Given the description of an element on the screen output the (x, y) to click on. 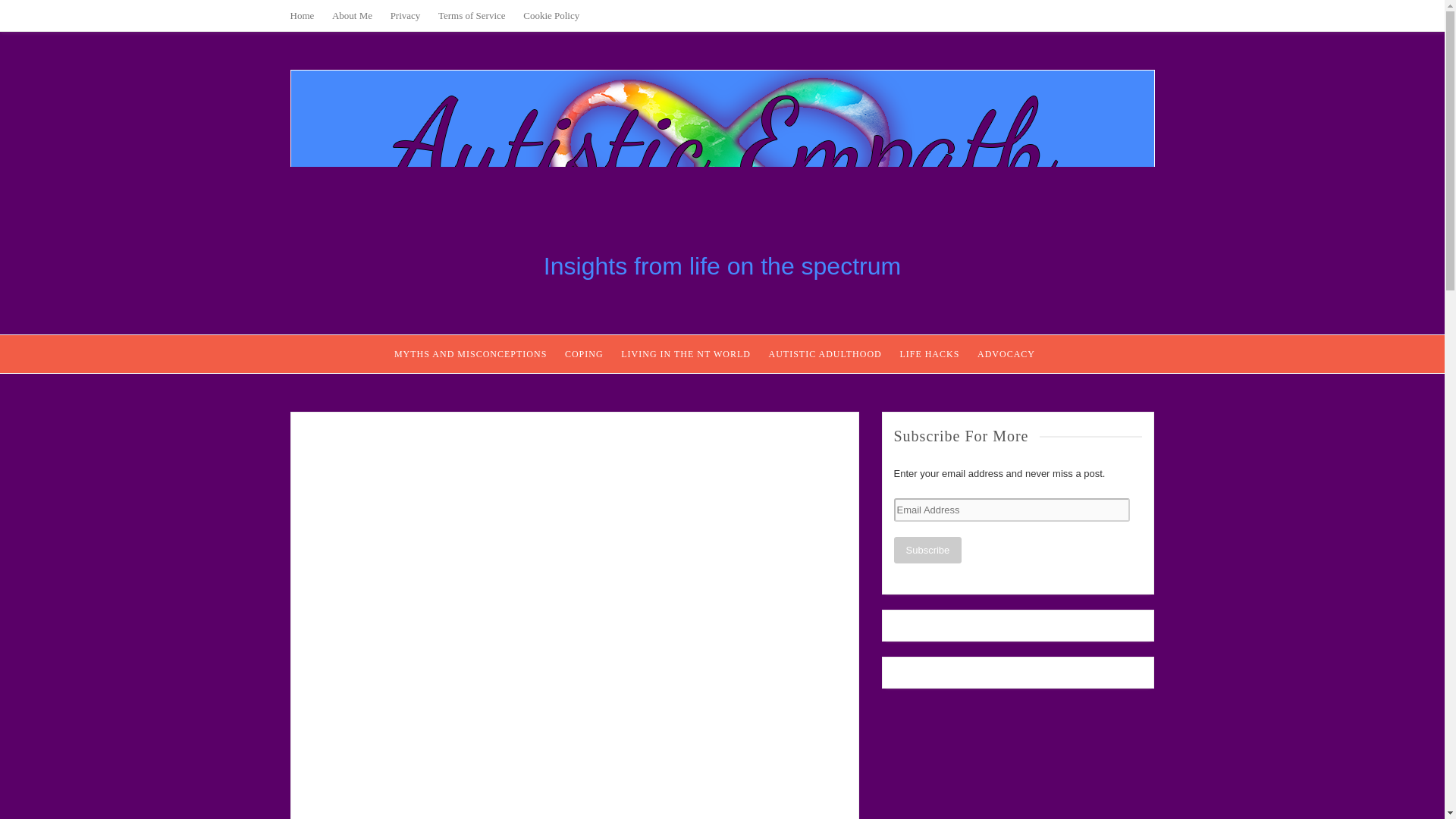
Life Hacks (929, 353)
Autistic Adulthood (825, 353)
Terms of Service (471, 15)
Terms of Service (471, 15)
About Me (351, 15)
Subscribe (926, 550)
Advocacy (1005, 353)
Home (301, 15)
AUTISTIC ADULTHOOD (825, 353)
COPING (584, 353)
